Given the description of an element on the screen output the (x, y) to click on. 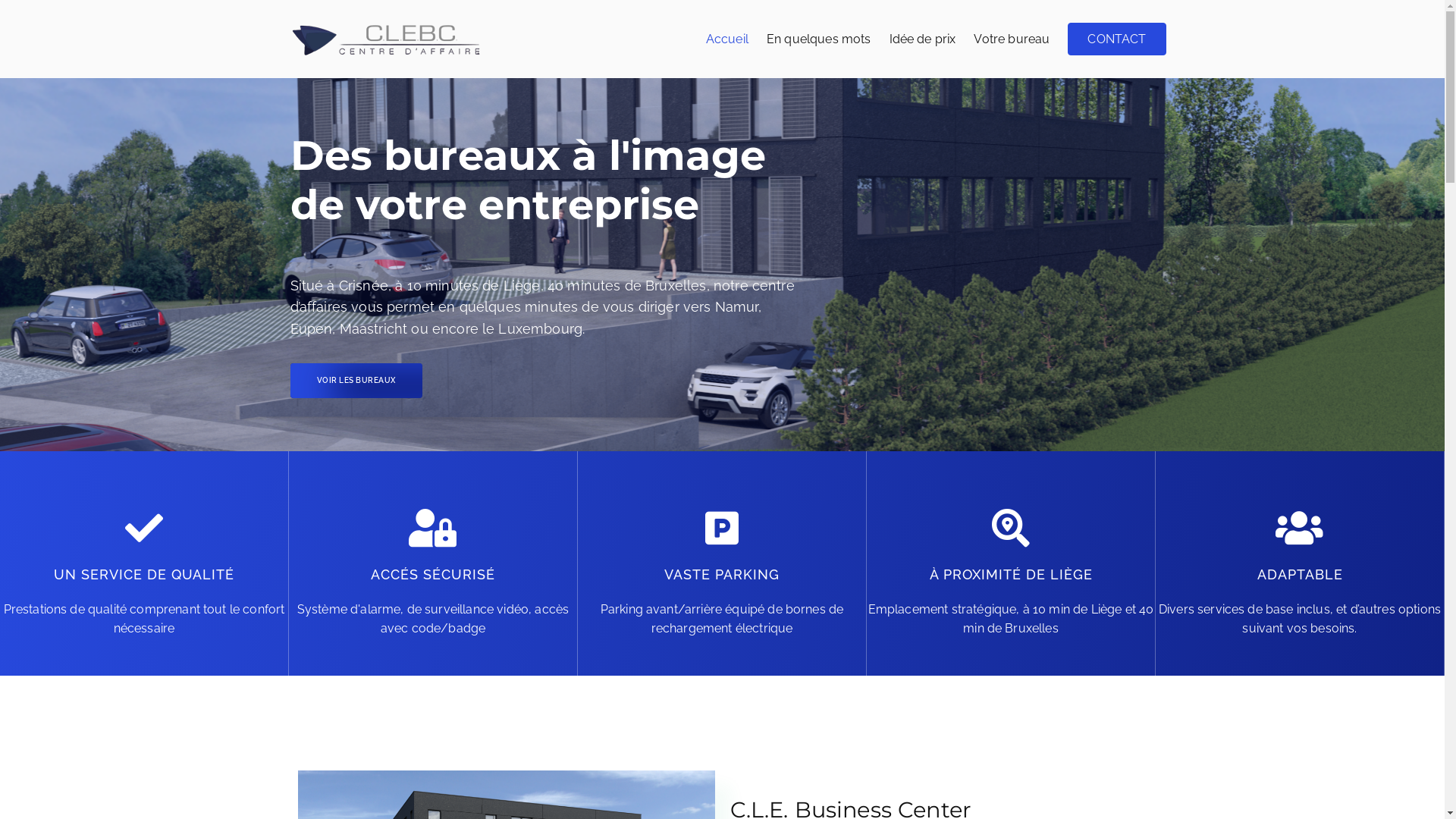
VOIR LES BUREAUX Element type: text (355, 380)
En quelques mots Element type: text (818, 39)
CONTACT Element type: text (1116, 39)
C.L.E Business Center Element type: text (595, 48)
Accueil Element type: text (727, 39)
Votre bureau Element type: text (1011, 39)
